Given the description of an element on the screen output the (x, y) to click on. 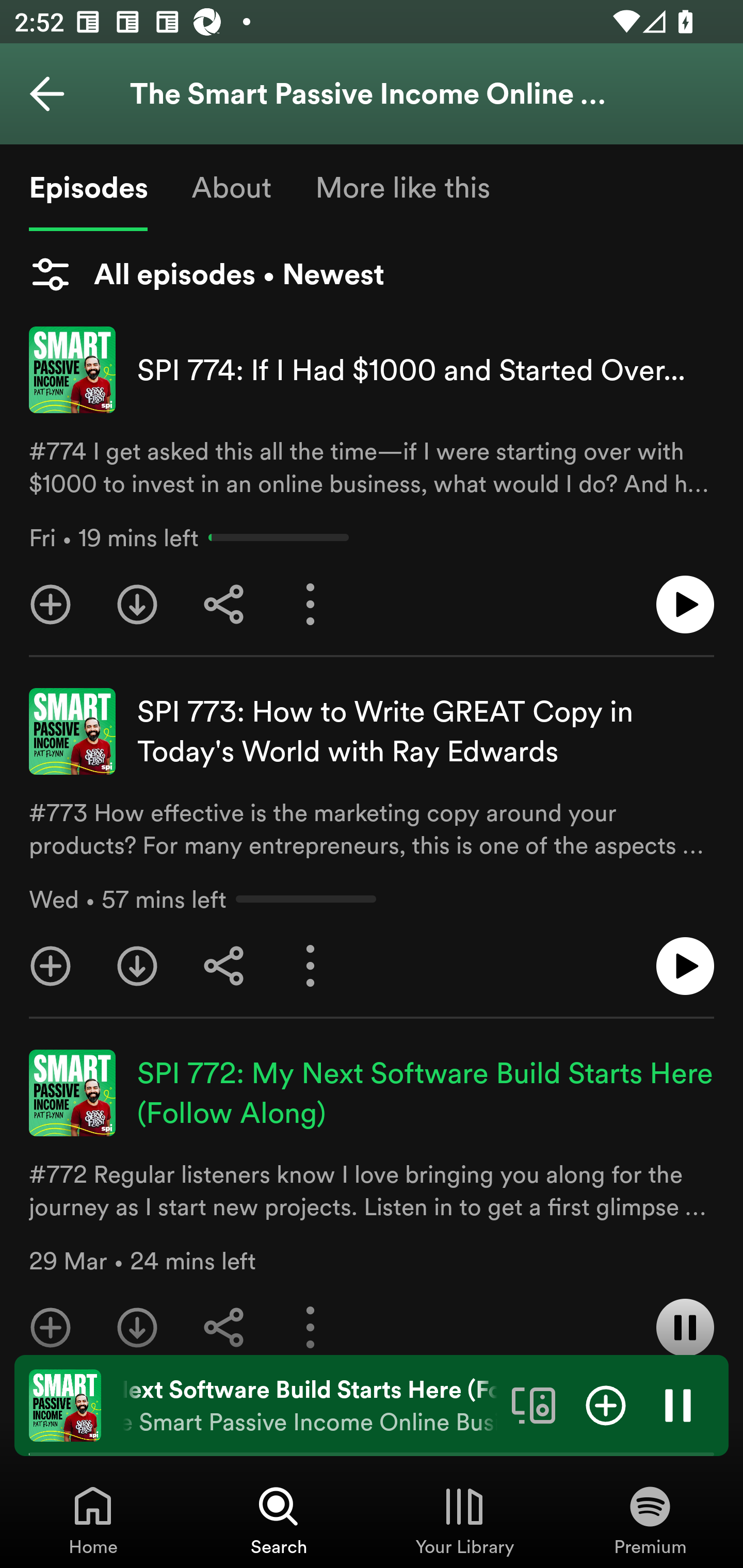
Back (46, 93)
About (231, 187)
More like this (402, 187)
All episodes • Newest (206, 274)
Share (223, 604)
Share (223, 965)
Share (223, 1319)
The cover art of the currently playing track (64, 1404)
Connect to a device. Opens the devices menu (533, 1404)
Add item (605, 1404)
Pause (677, 1404)
Home, Tab 1 of 4 Home Home (92, 1519)
Search, Tab 2 of 4 Search Search (278, 1519)
Your Library, Tab 3 of 4 Your Library Your Library (464, 1519)
Premium, Tab 4 of 4 Premium Premium (650, 1519)
